Given the description of an element on the screen output the (x, y) to click on. 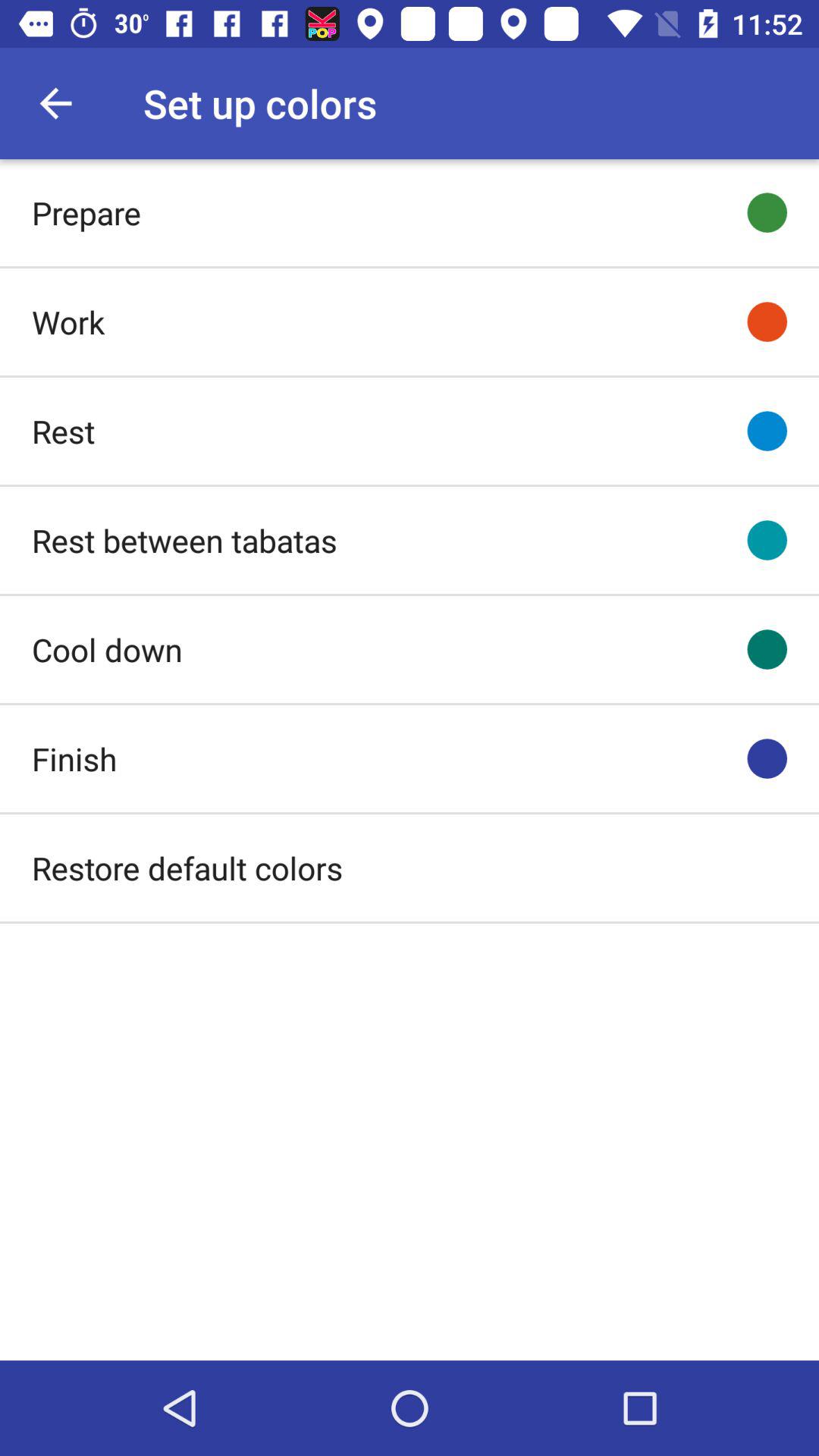
launch item above work icon (86, 212)
